Given the description of an element on the screen output the (x, y) to click on. 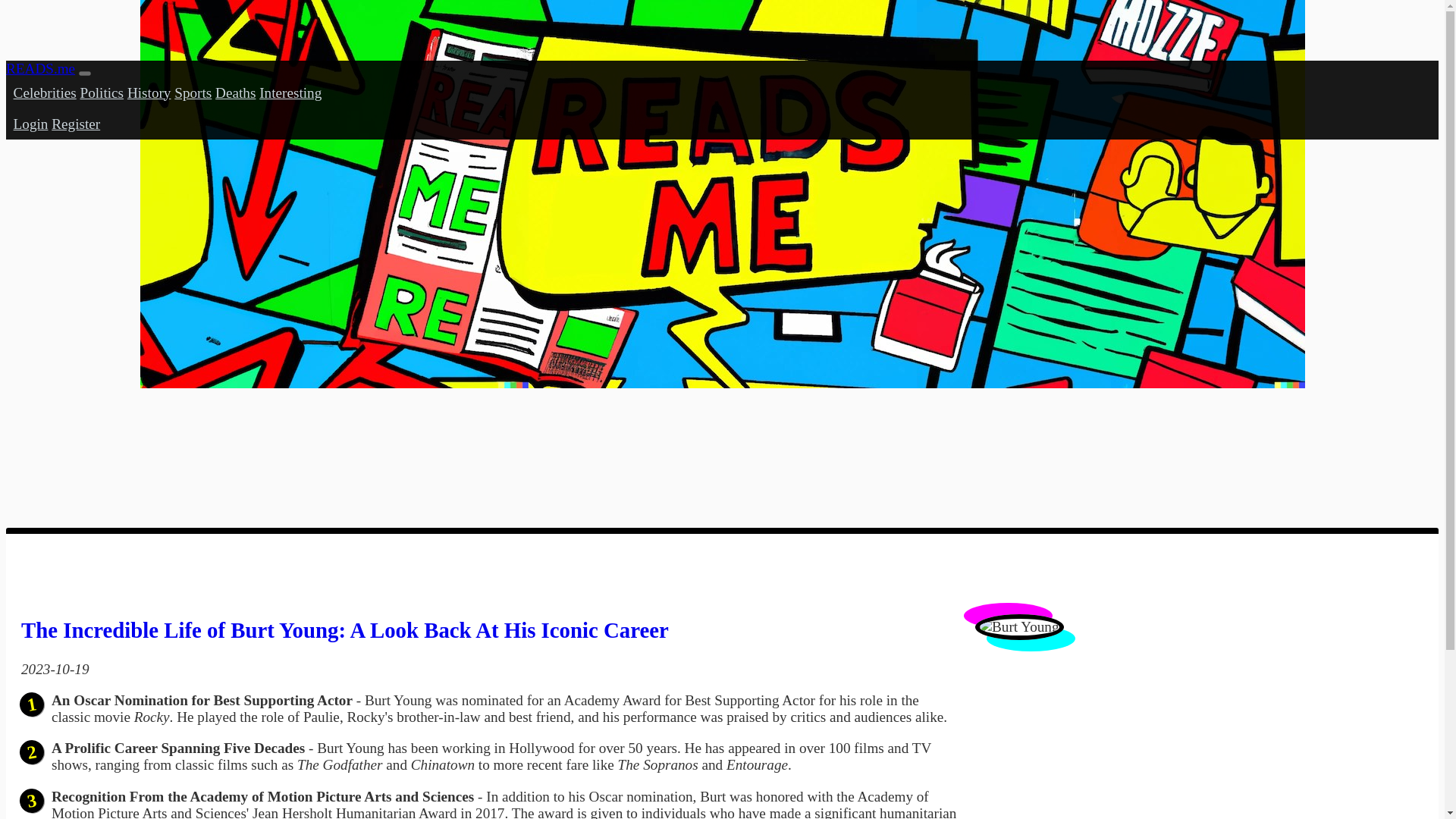
Register (75, 123)
READS.me (40, 68)
Celebrities (45, 92)
Interesting (290, 92)
Sports (192, 92)
Deaths (235, 92)
Login (30, 123)
History (149, 92)
Politics (101, 92)
